Given the description of an element on the screen output the (x, y) to click on. 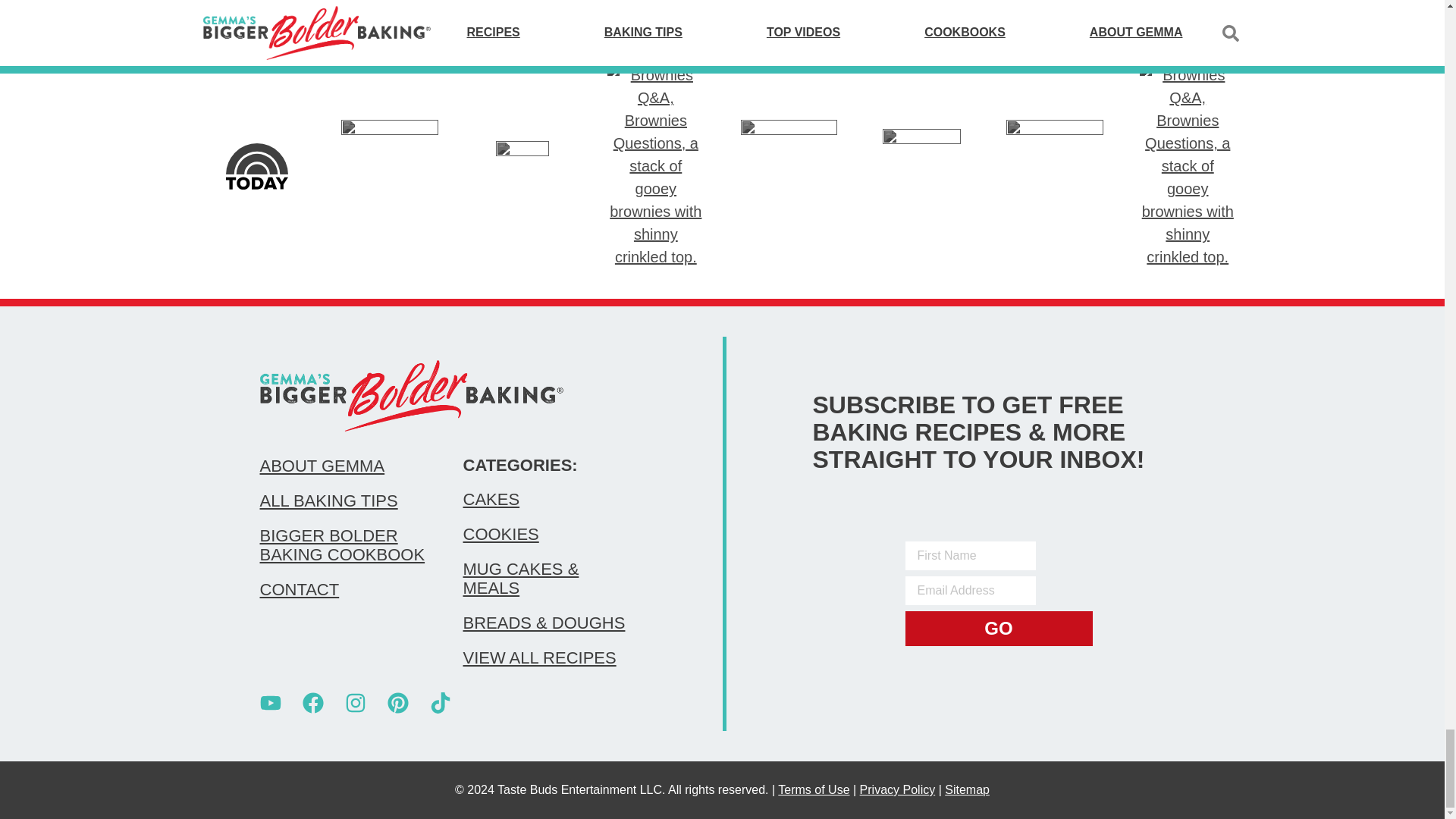
About Gemma (345, 466)
All Baking Tips (345, 501)
Bigger Bolder Baking Cookbook (345, 545)
Contact (345, 589)
